Given the description of an element on the screen output the (x, y) to click on. 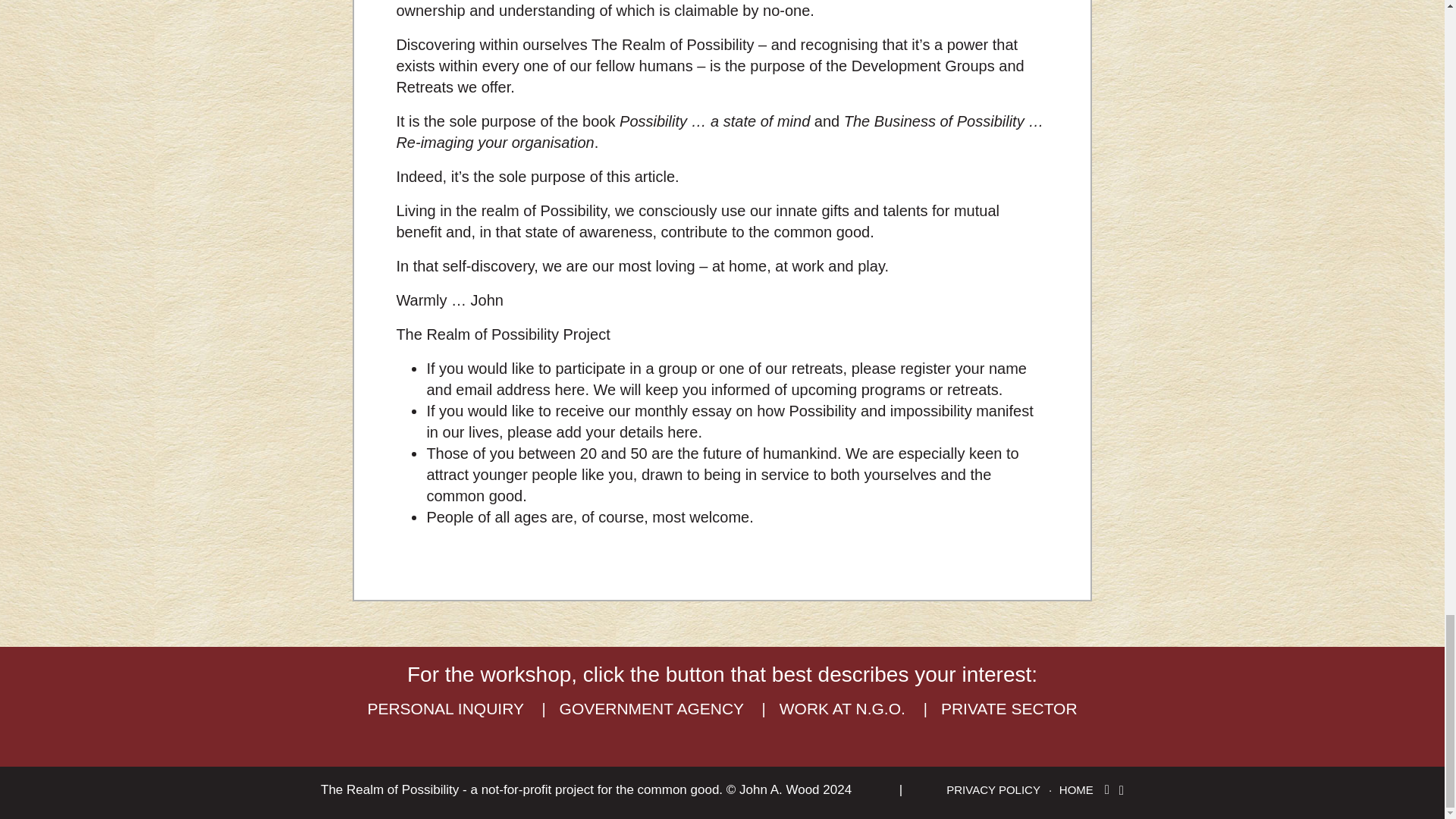
Visit us on LinkedIn (1121, 789)
Visit us on Facebook (1109, 789)
GOVERNMENT AGENCY (653, 708)
WORK AT N.G.O. (844, 708)
PERSONAL INQUIRY (446, 708)
PRIVATE SECTOR (1008, 708)
HOME (1076, 789)
PRIVACY POLICY (1000, 789)
